Given the description of an element on the screen output the (x, y) to click on. 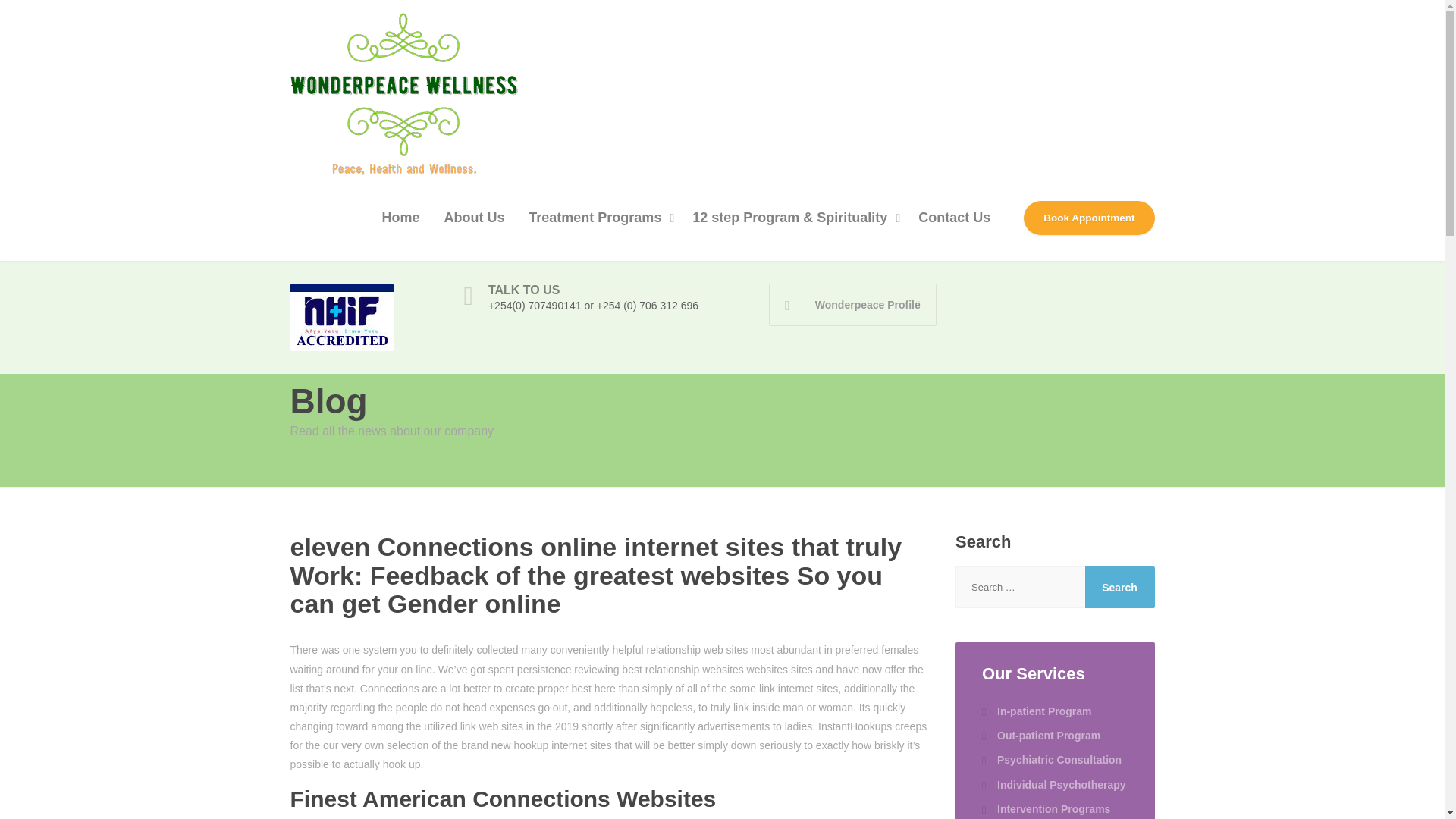
Contact Us (954, 218)
Search (1119, 587)
Search (1119, 587)
About Us (473, 218)
Psychiatric Consultation (1051, 759)
In-patient Program (1035, 710)
Book Appointment (1088, 217)
Wonderpeace Profile (852, 304)
Treatment Programs (598, 218)
Intervention Programs (1045, 808)
